Given the description of an element on the screen output the (x, y) to click on. 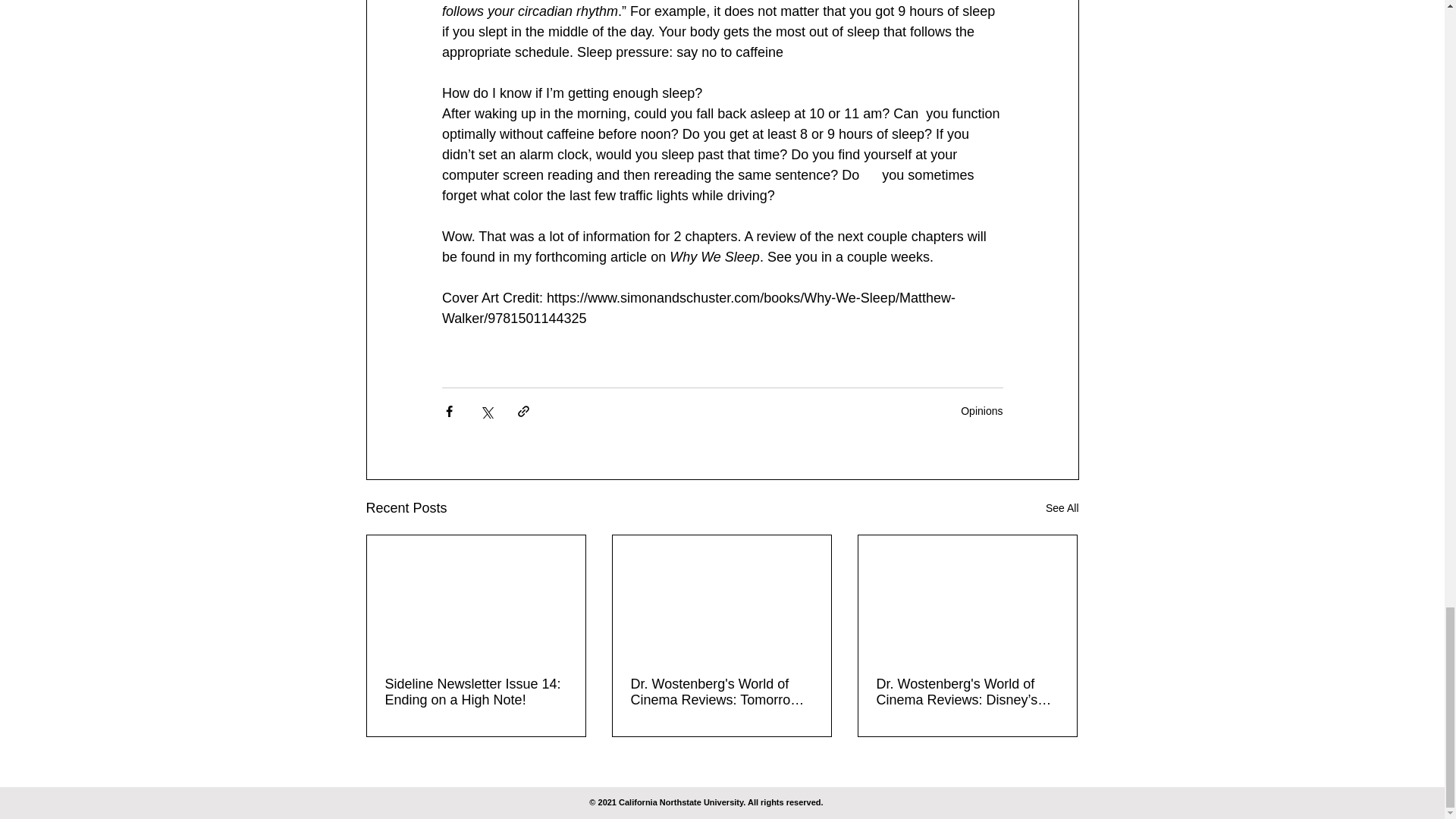
Sideline Newsletter Issue 14: Ending on a High Note! (476, 692)
Opinions (981, 410)
See All (1061, 508)
